Given the description of an element on the screen output the (x, y) to click on. 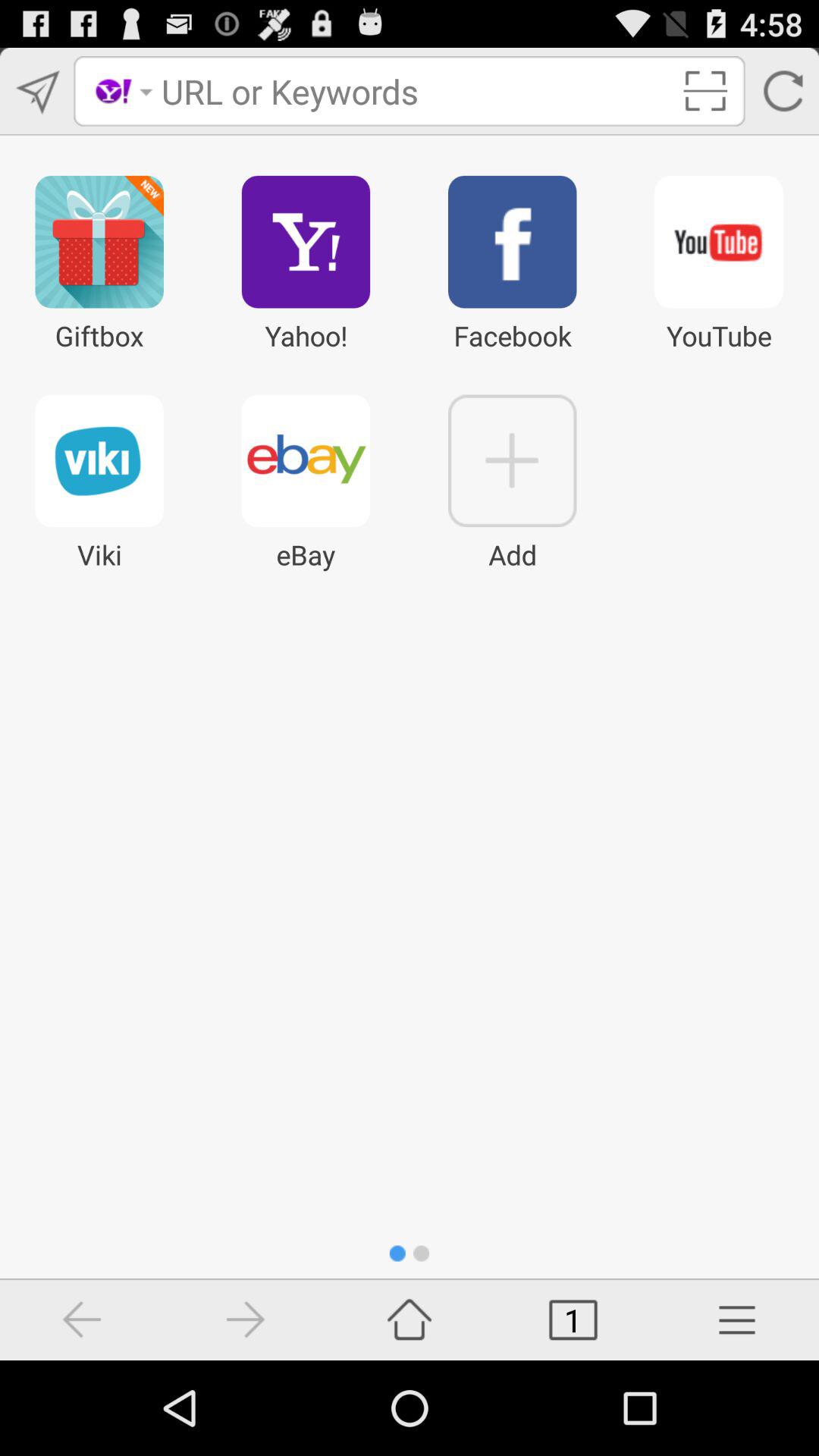
open item below youtube (737, 1319)
